Given the description of an element on the screen output the (x, y) to click on. 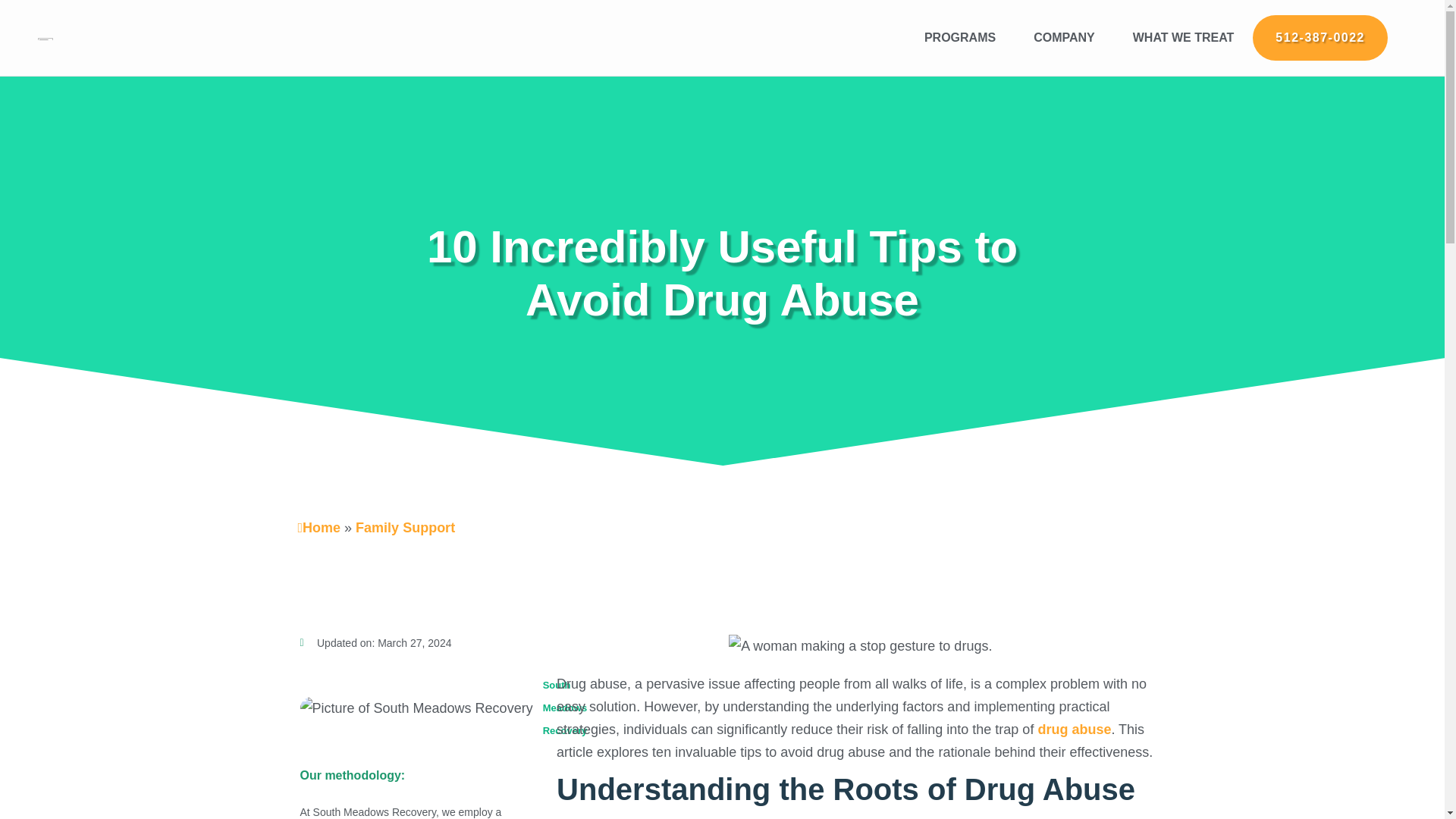
Useful Tips to Avoid Drug Abuse (860, 645)
PROGRAMS (959, 38)
COMPANY (1063, 38)
WHAT WE TREAT (1183, 38)
